Given the description of an element on the screen output the (x, y) to click on. 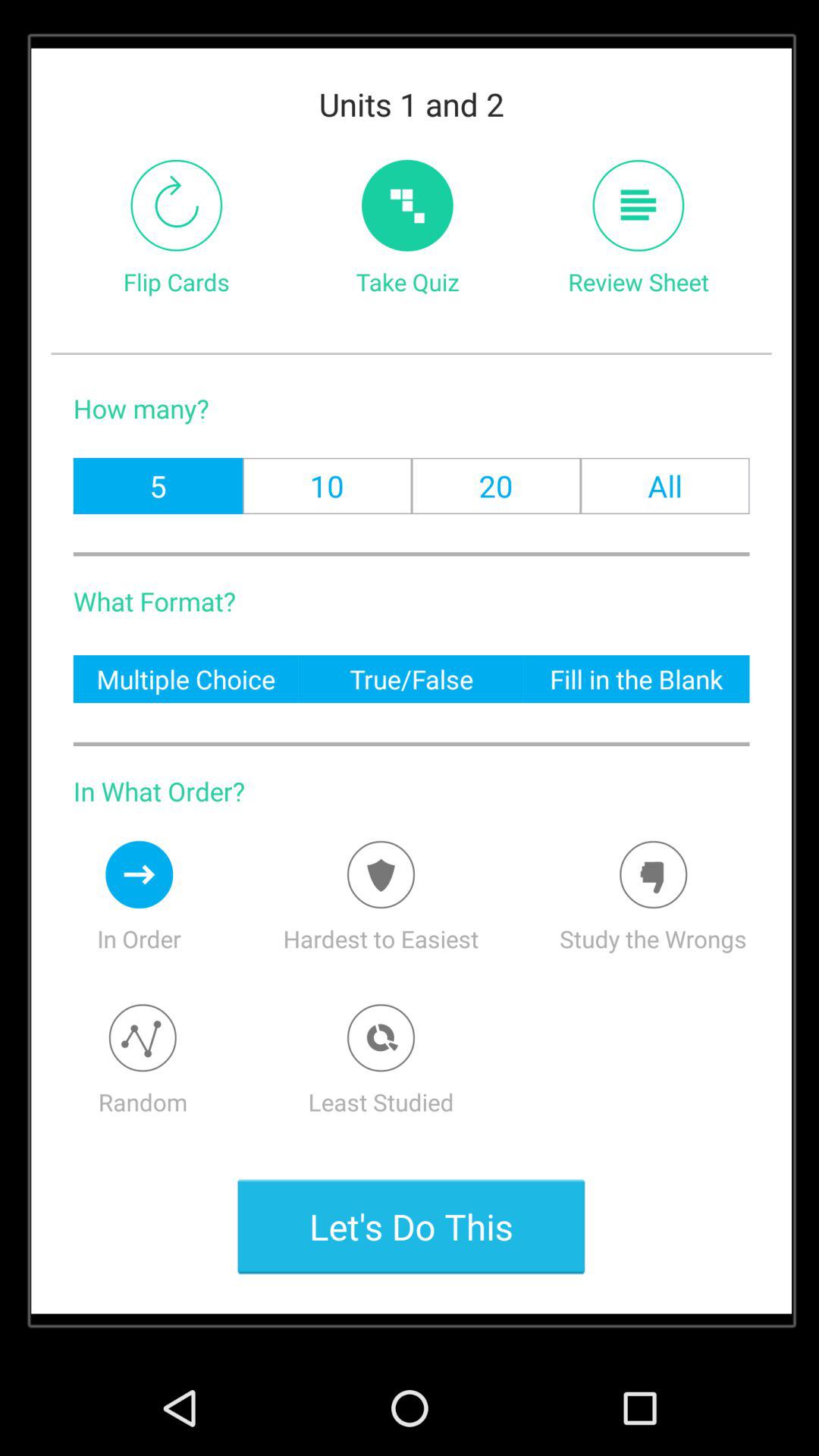
take the quiz (407, 205)
